Given the description of an element on the screen output the (x, y) to click on. 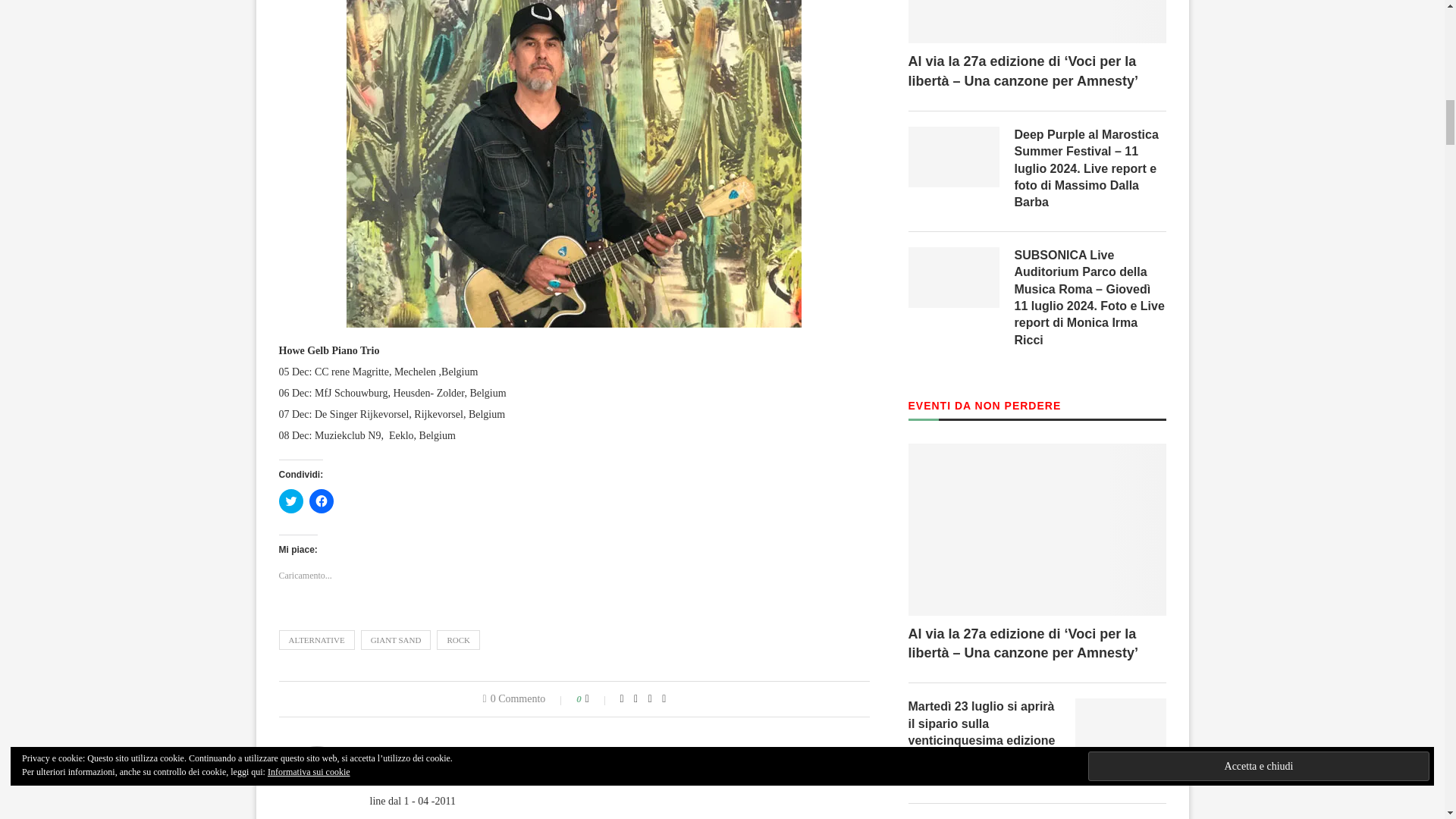
Fai clic qui per condividere su Twitter (290, 500)
Like (597, 698)
Articoli scritti da Exhimusic - Percorsi nella musica (485, 752)
Fai clic per condividere su Facebook (320, 500)
